Given the description of an element on the screen output the (x, y) to click on. 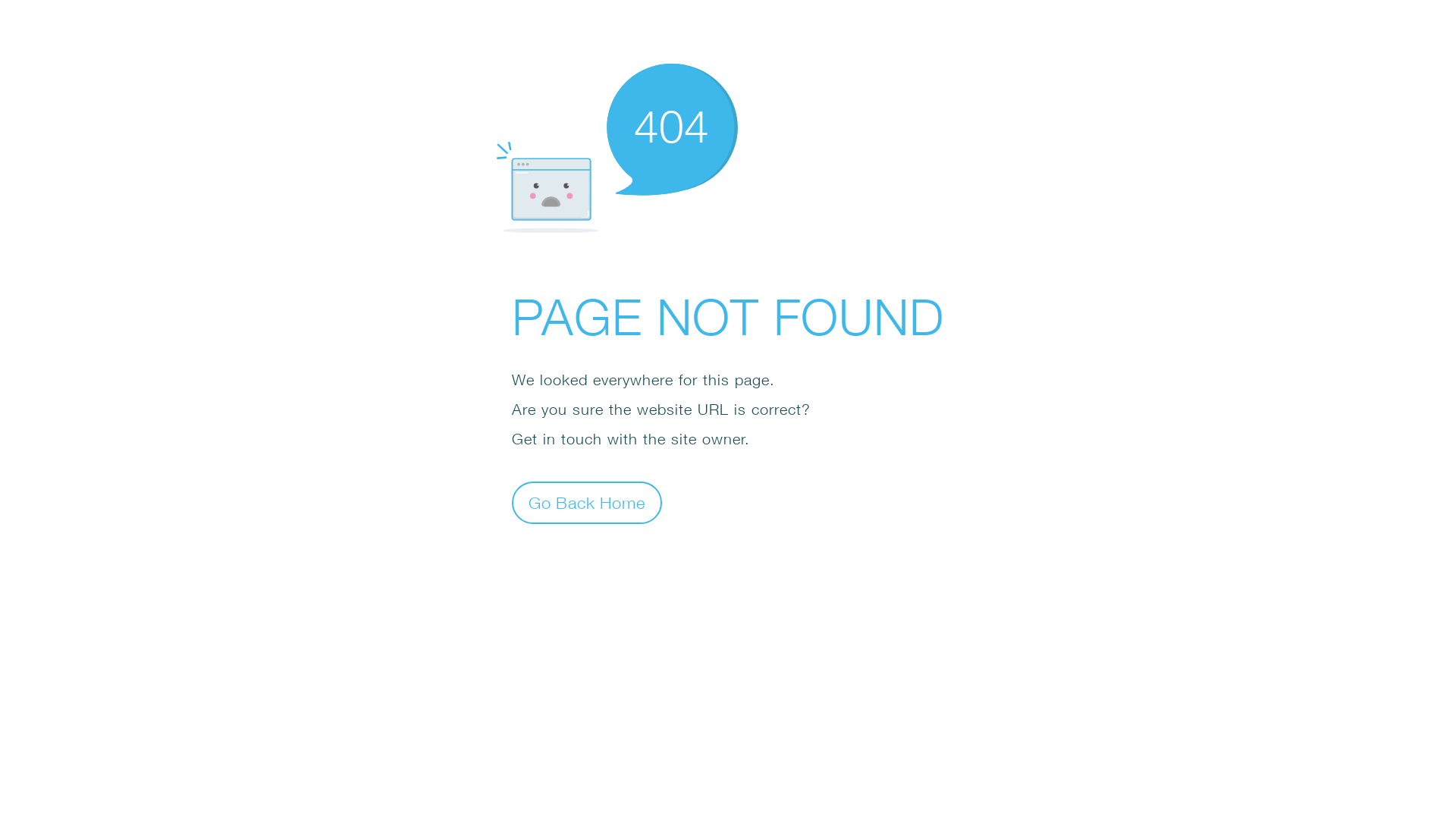
Go Back Home Element type: text (586, 502)
